Given the description of an element on the screen output the (x, y) to click on. 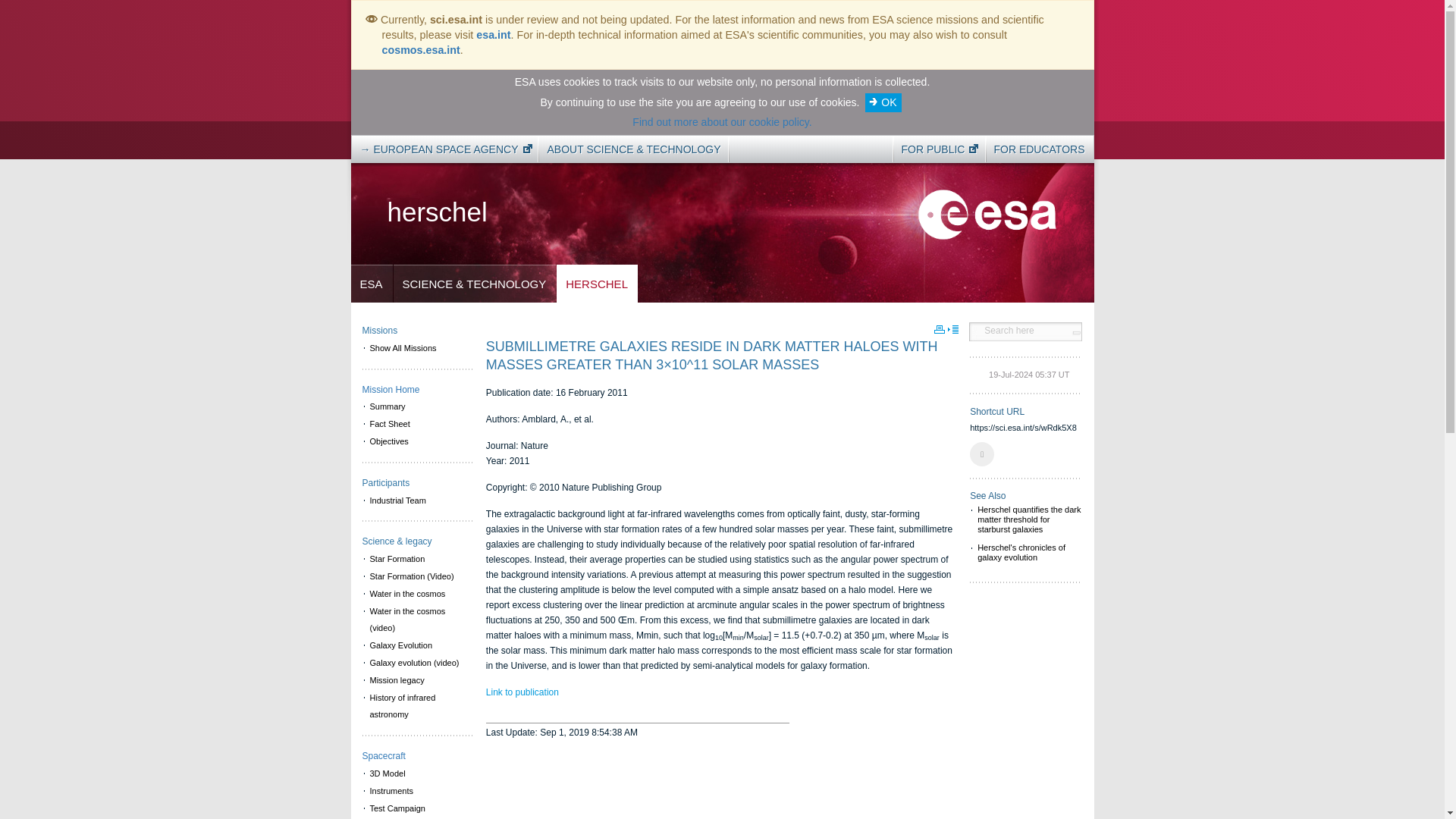
cosmos.esa.int (420, 50)
esa.int (493, 34)
